Given the description of an element on the screen output the (x, y) to click on. 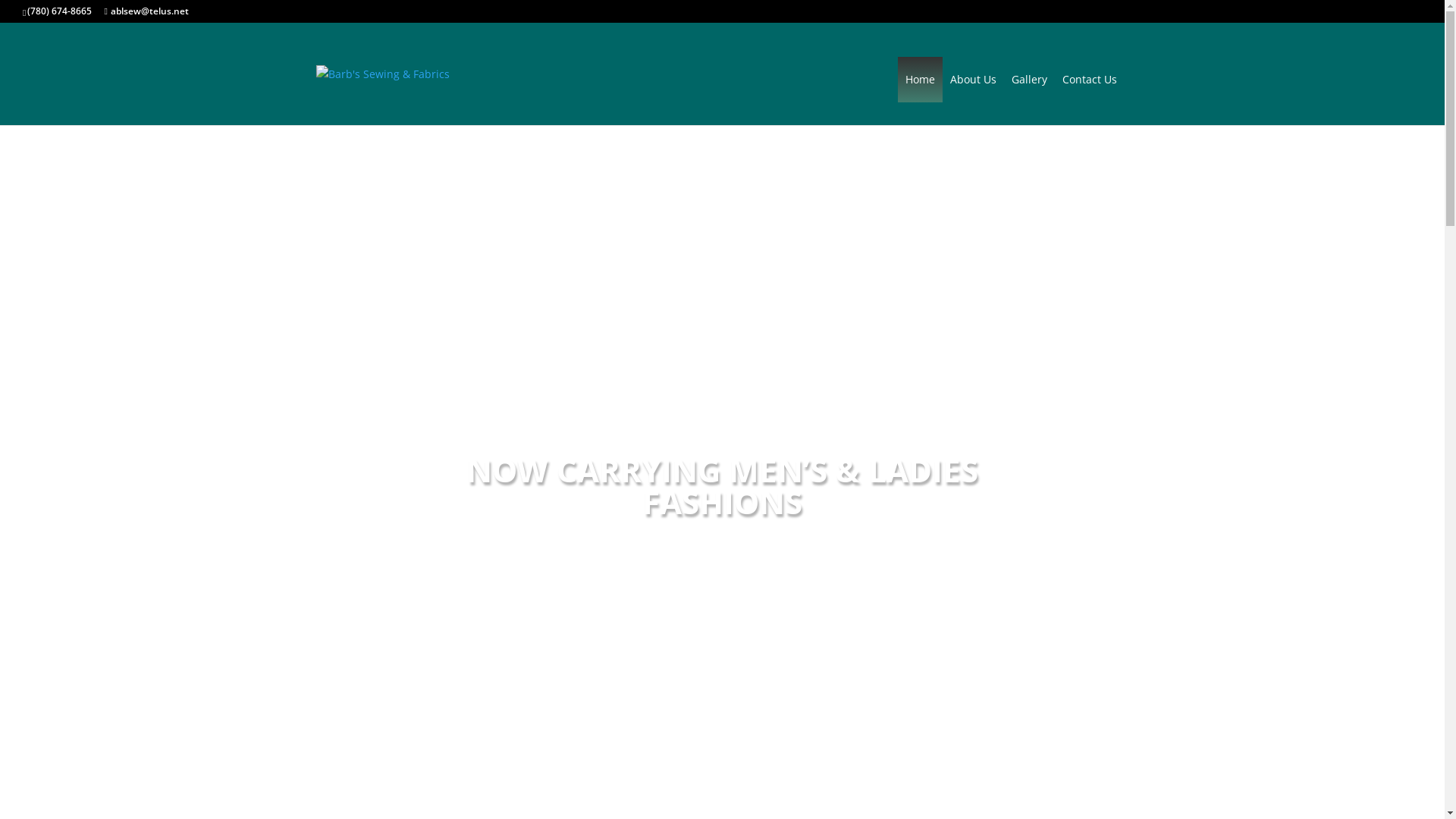
Contact Us Element type: text (1088, 79)
About Us Element type: text (972, 79)
Gallery Element type: text (1029, 79)
Home Element type: text (919, 79)
ablsew@telus.net Element type: text (145, 10)
